Given the description of an element on the screen output the (x, y) to click on. 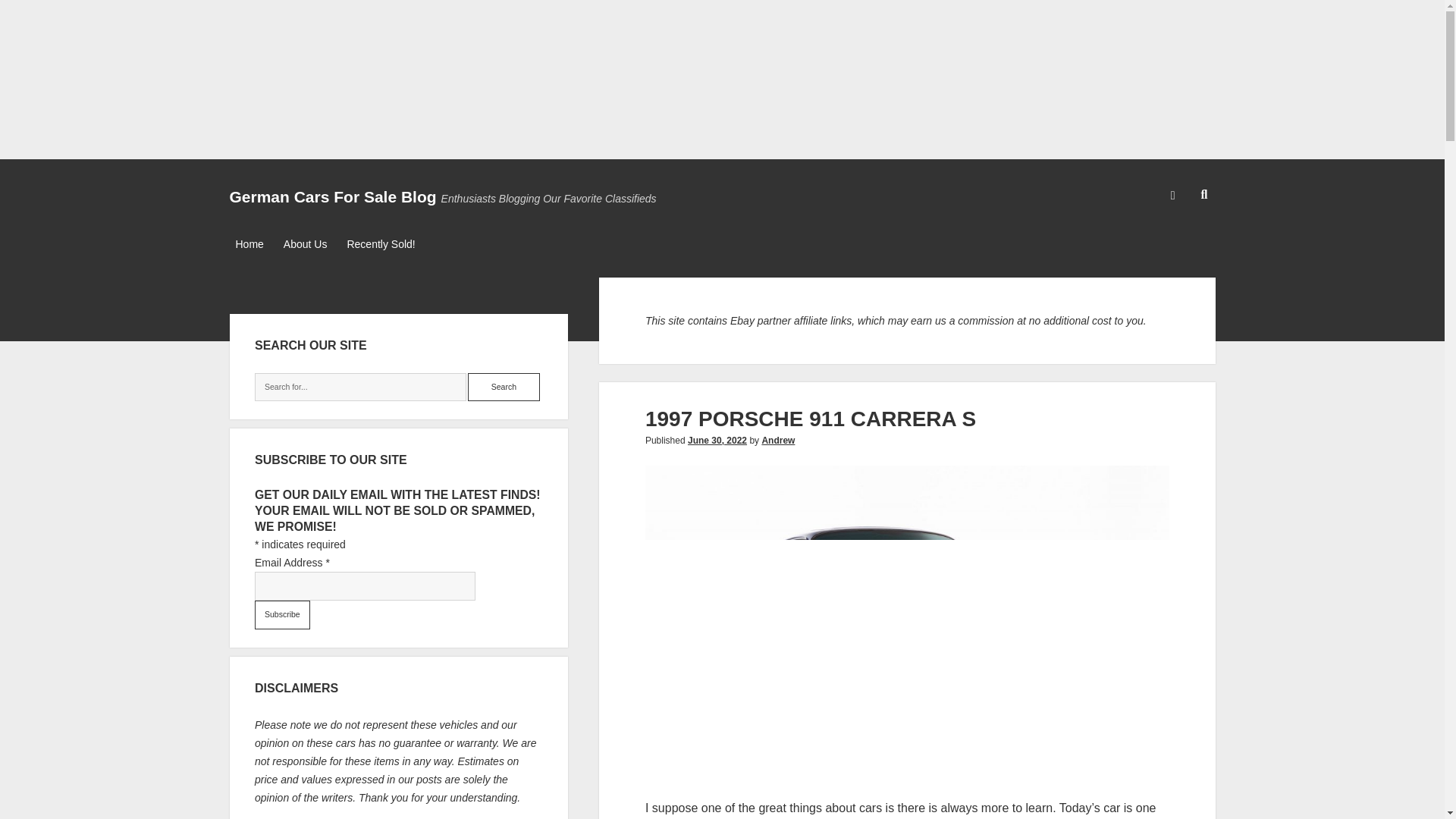
Subscribe (282, 614)
About Us (305, 244)
Home (248, 244)
Search (503, 387)
Subscribe (282, 614)
Search (503, 387)
June 30, 2022 (716, 439)
Search (503, 387)
Search for: (359, 387)
German Cars For Sale Blog (331, 196)
Recently Sold! (380, 244)
Andrew (777, 439)
